Given the description of an element on the screen output the (x, y) to click on. 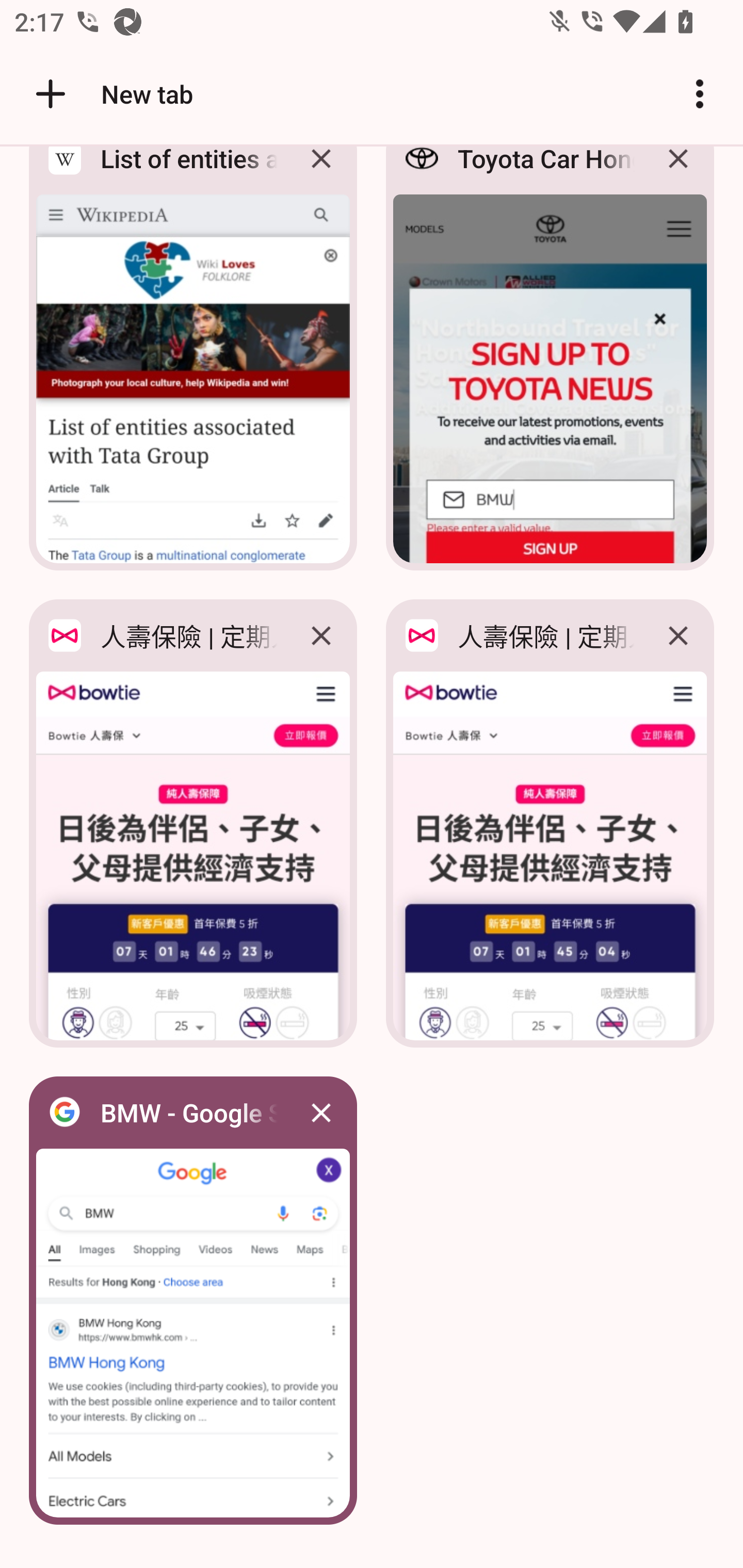
New tab (111, 93)
Customize and control Google Chrome (699, 93)
Close 人壽保險 | 定期人壽 | 純人壽保額高達 $2000 萬 | Bowtie tab (320, 635)
Close 人壽保險 | 定期人壽 | 純人壽保額高達 $2000 萬 | Bowtie tab (677, 635)
Close BMW - Google Search tab (320, 1112)
